Given the description of an element on the screen output the (x, y) to click on. 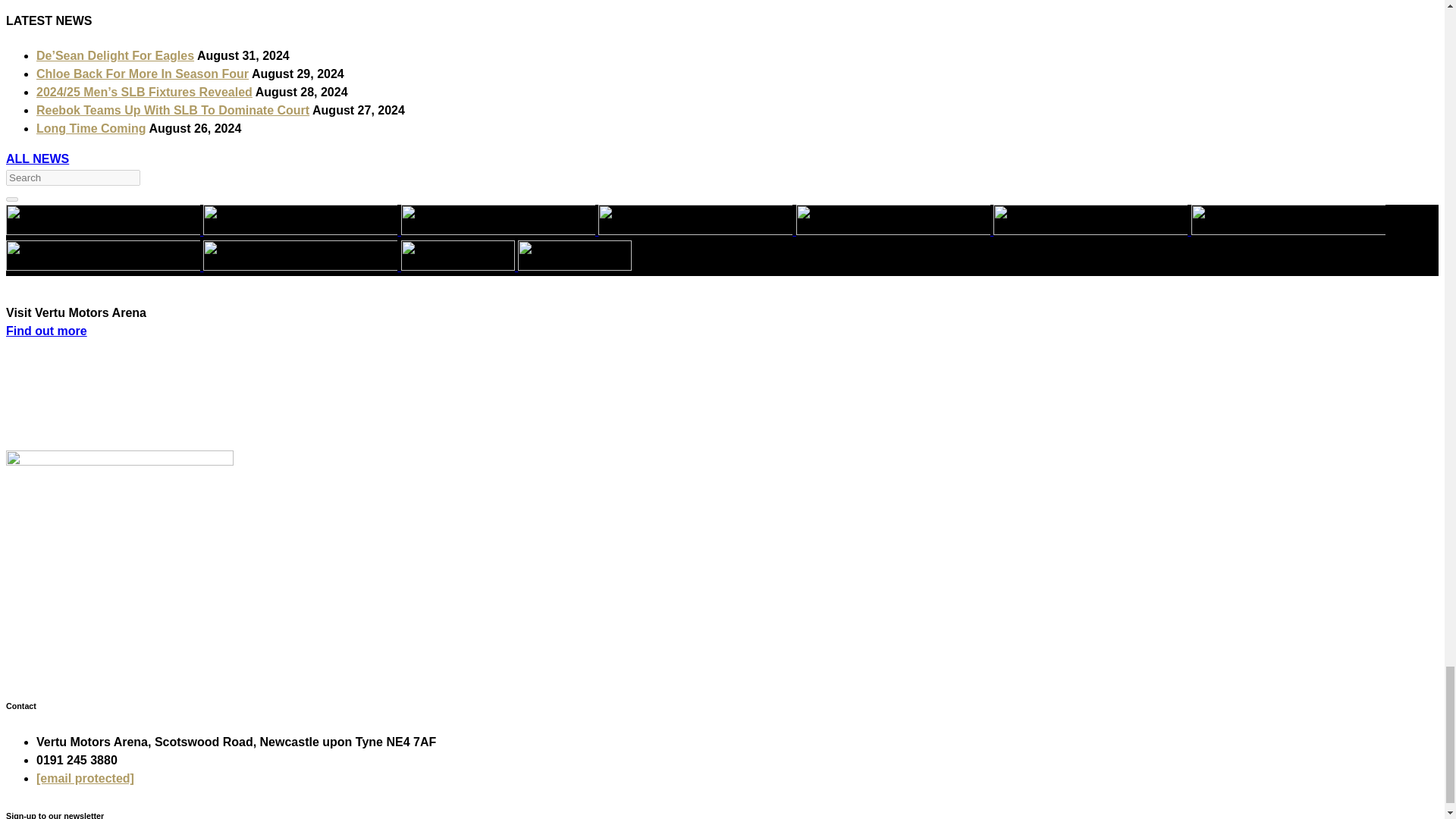
Simpson Group (1090, 219)
Newcastle International Airport (1288, 219)
ALL NEWS (36, 158)
Vertu Honda (300, 219)
Muckle LLP (695, 219)
Super League Basketball (102, 219)
Northumbria Health (893, 219)
Molten (102, 255)
Maldron Hotel Newcastle (498, 219)
